Given the description of an element on the screen output the (x, y) to click on. 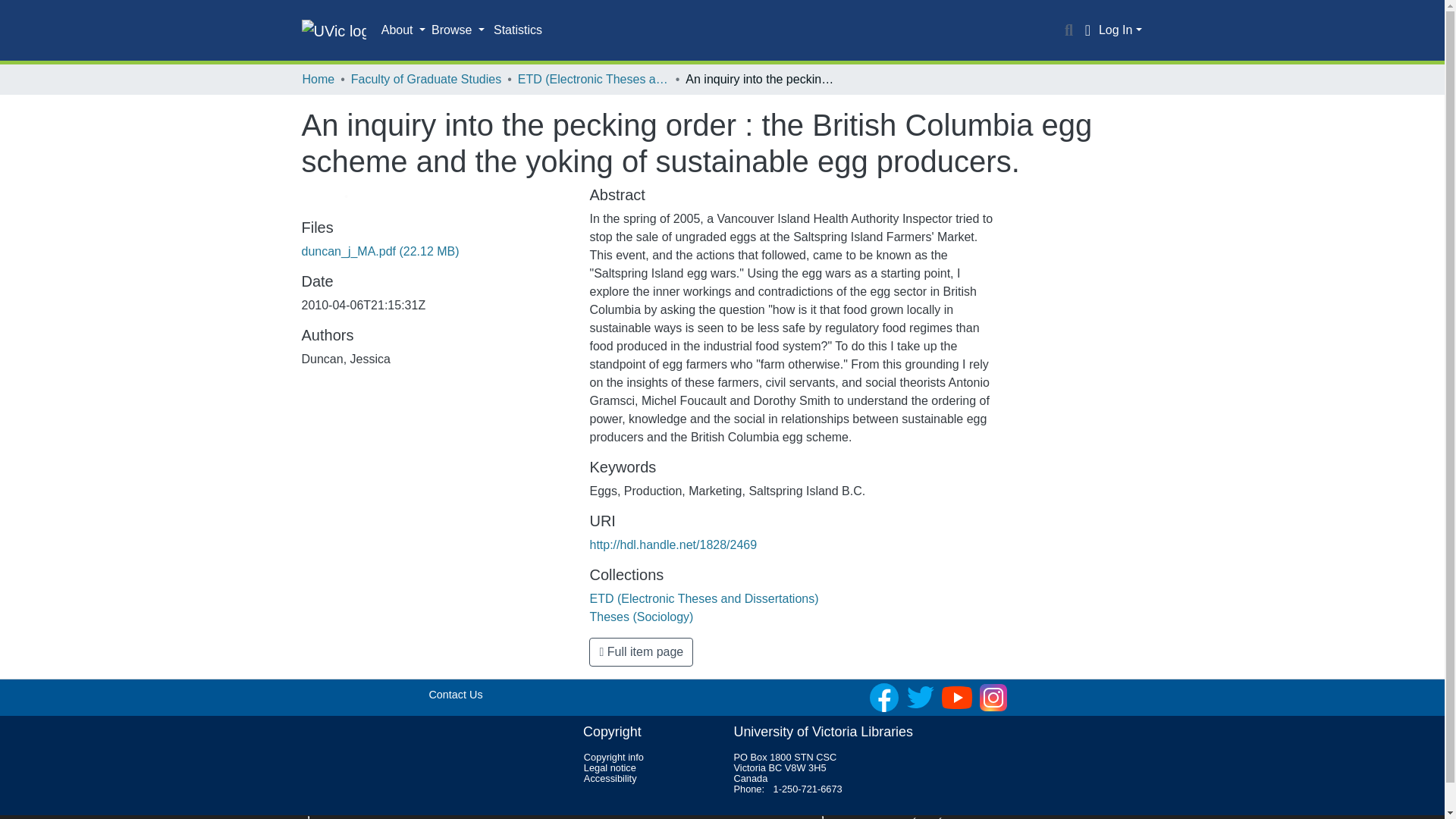
Language switch (1087, 30)
Contact Us (454, 694)
Home (317, 79)
Browse (457, 30)
About (403, 30)
Log In (1119, 29)
Statistics (517, 30)
Full item page (641, 652)
Statistics (517, 30)
Search (1068, 30)
Faculty of Graduate Studies (425, 79)
